Given the description of an element on the screen output the (x, y) to click on. 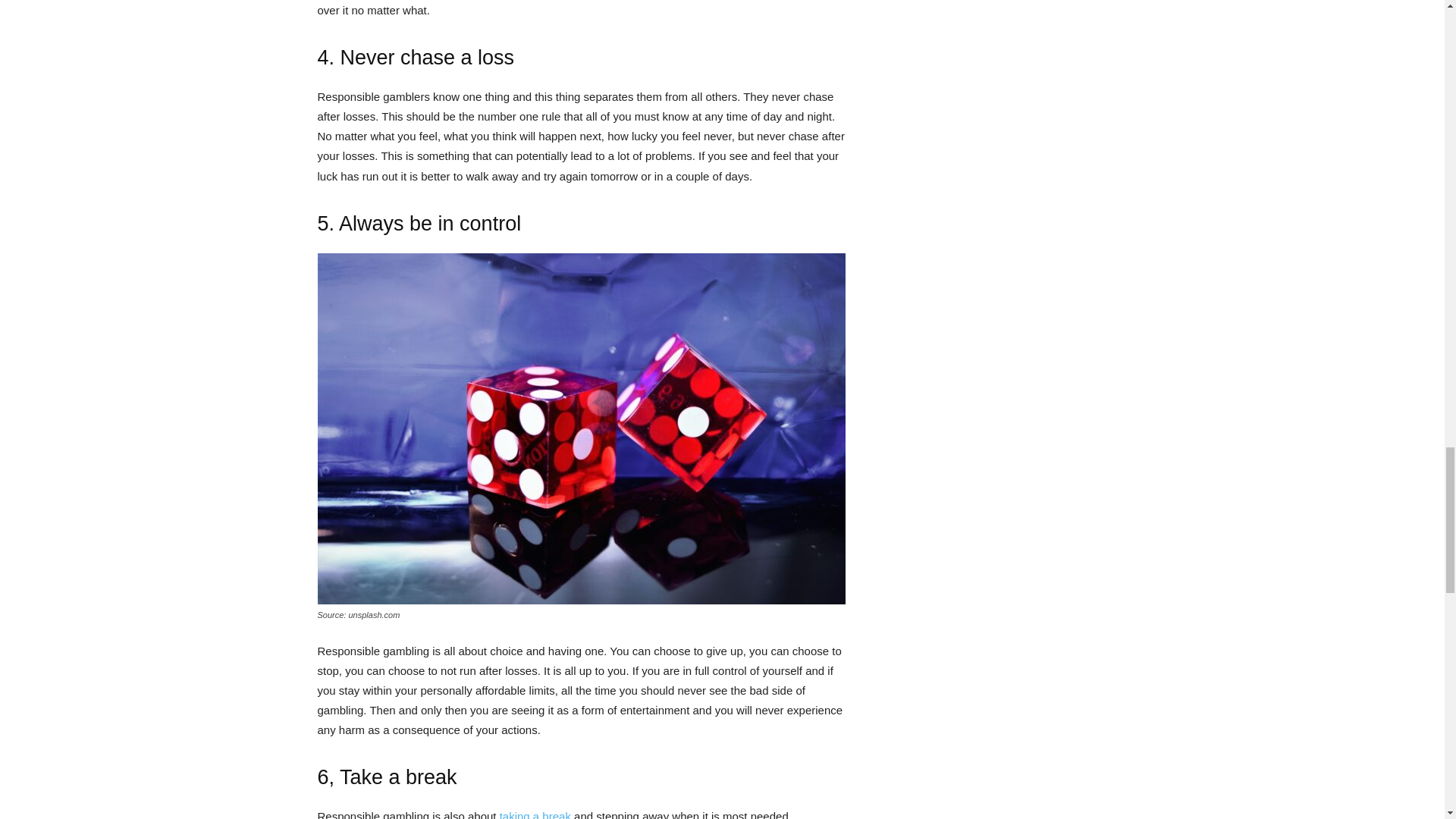
taking a break (534, 814)
